Given the description of an element on the screen output the (x, y) to click on. 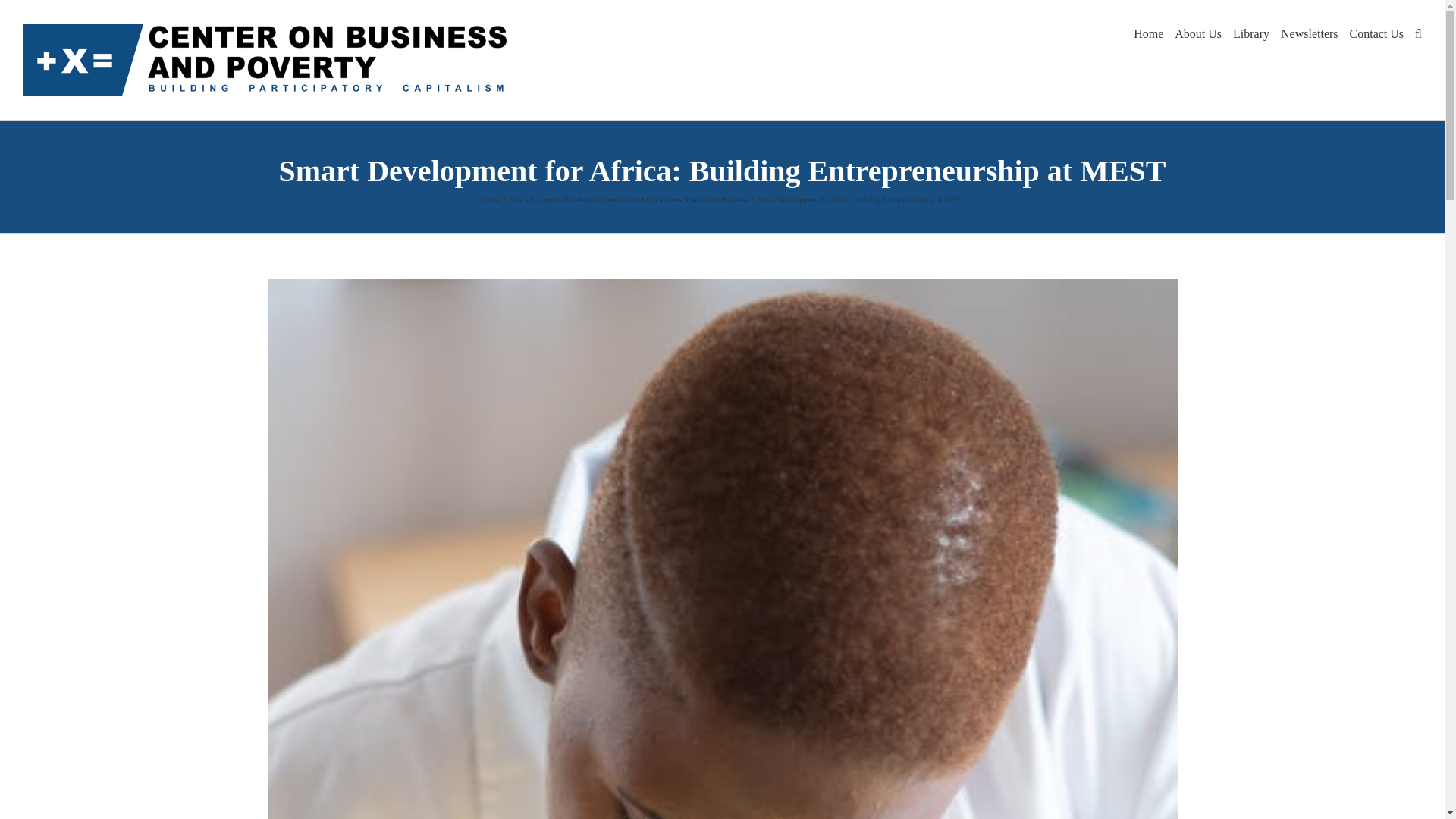
Home (1148, 31)
Contact Us (1377, 31)
About Us (1197, 31)
Newsletters (1309, 31)
Search (1418, 31)
Library (1251, 31)
